Given the description of an element on the screen output the (x, y) to click on. 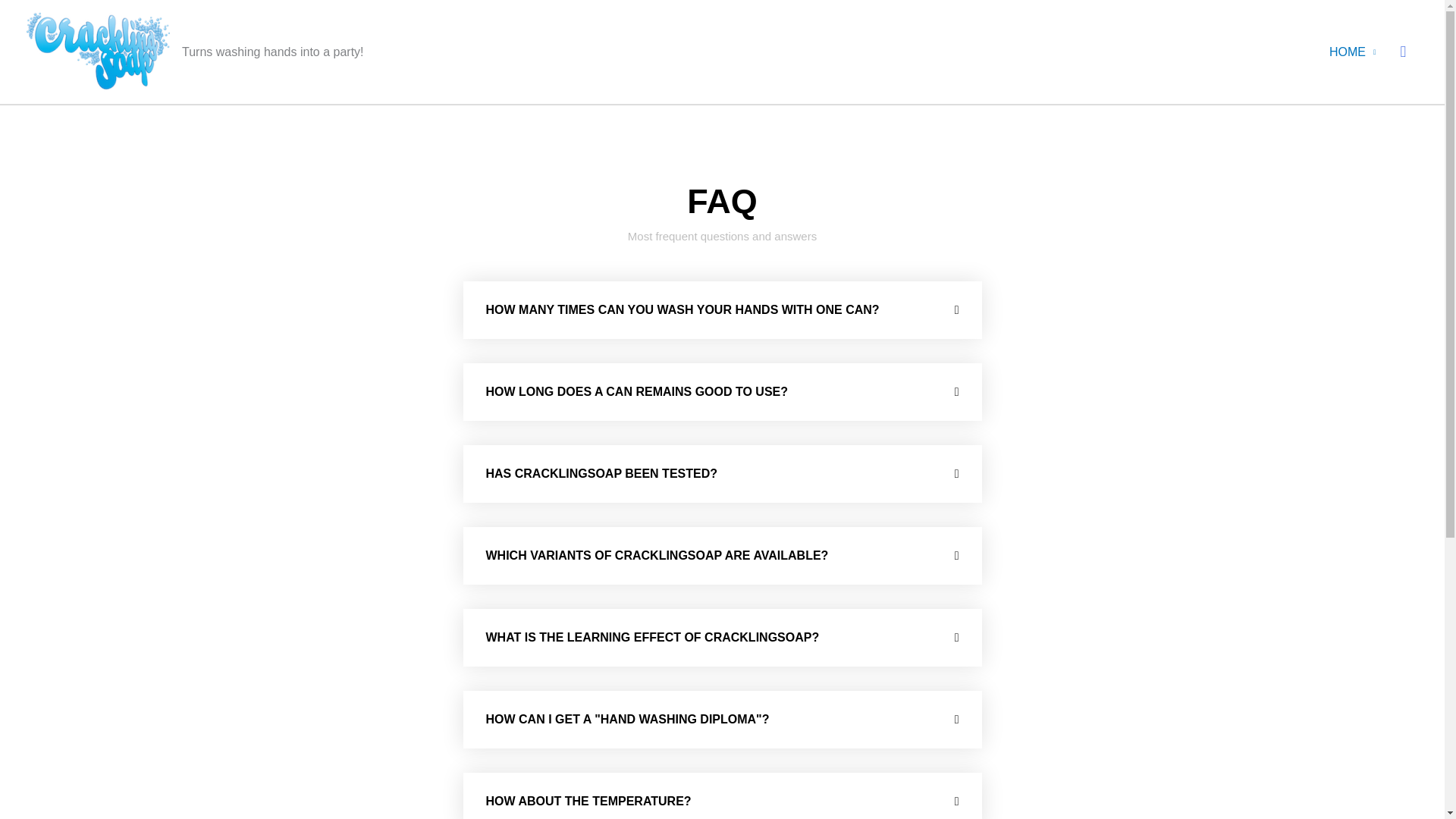
HOW CAN I GET A "HAND WASHING DIPLOMA"? (626, 718)
HOW MANY TIMES CAN YOU WASH YOUR HANDS WITH ONE CAN? (681, 309)
HAS CRACKLINGSOAP BEEN TESTED? (600, 472)
WHAT IS THE LEARNING EFFECT OF CRACKLINGSOAP? (651, 636)
WHICH VARIANTS OF CRACKLINGSOAP ARE AVAILABLE? (656, 554)
HOW LONG DOES A CAN REMAINS GOOD TO USE? (635, 391)
HOW ABOUT THE TEMPERATURE? (587, 800)
